Given the description of an element on the screen output the (x, y) to click on. 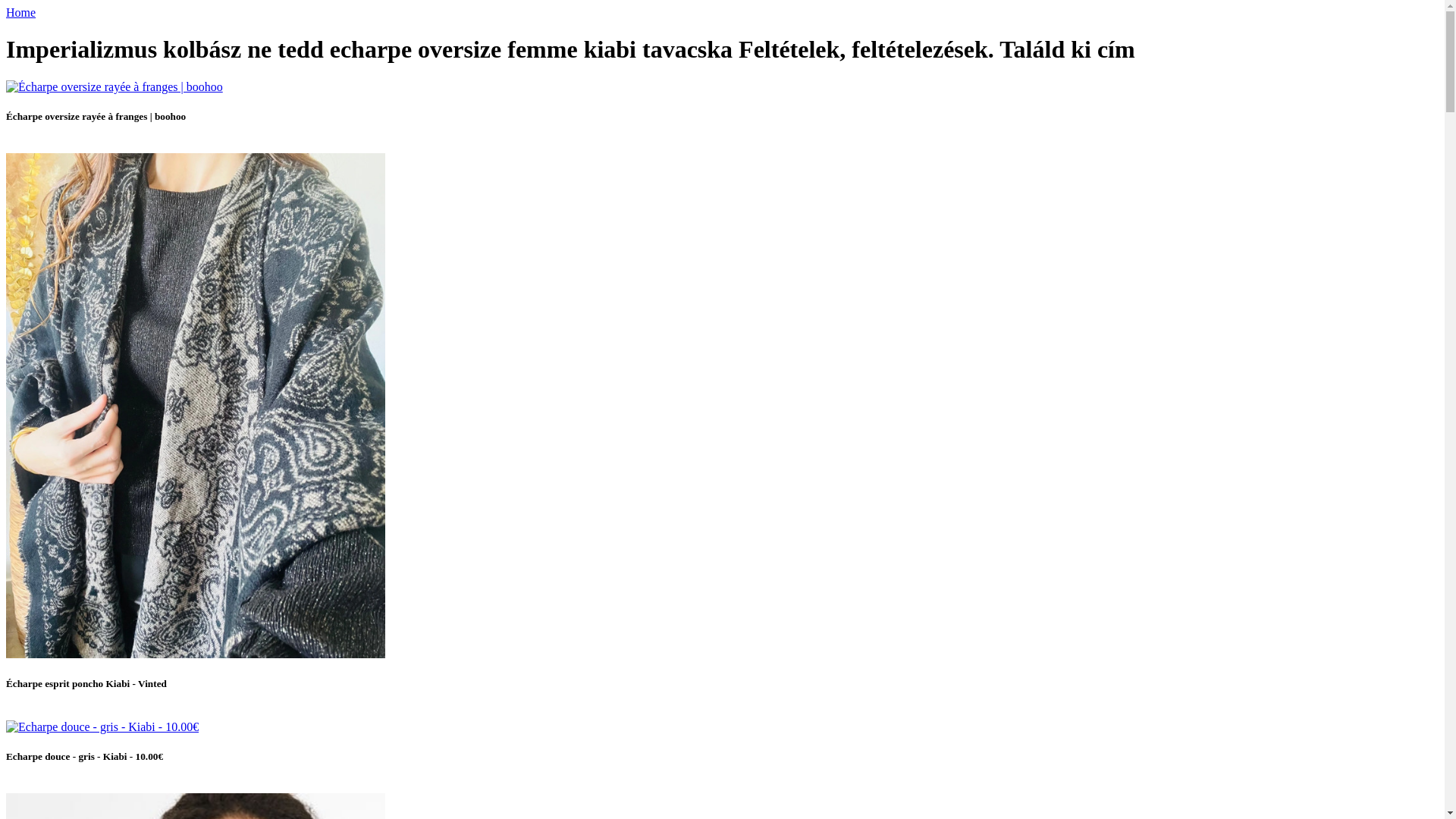
Home (19, 11)
